Given the description of an element on the screen output the (x, y) to click on. 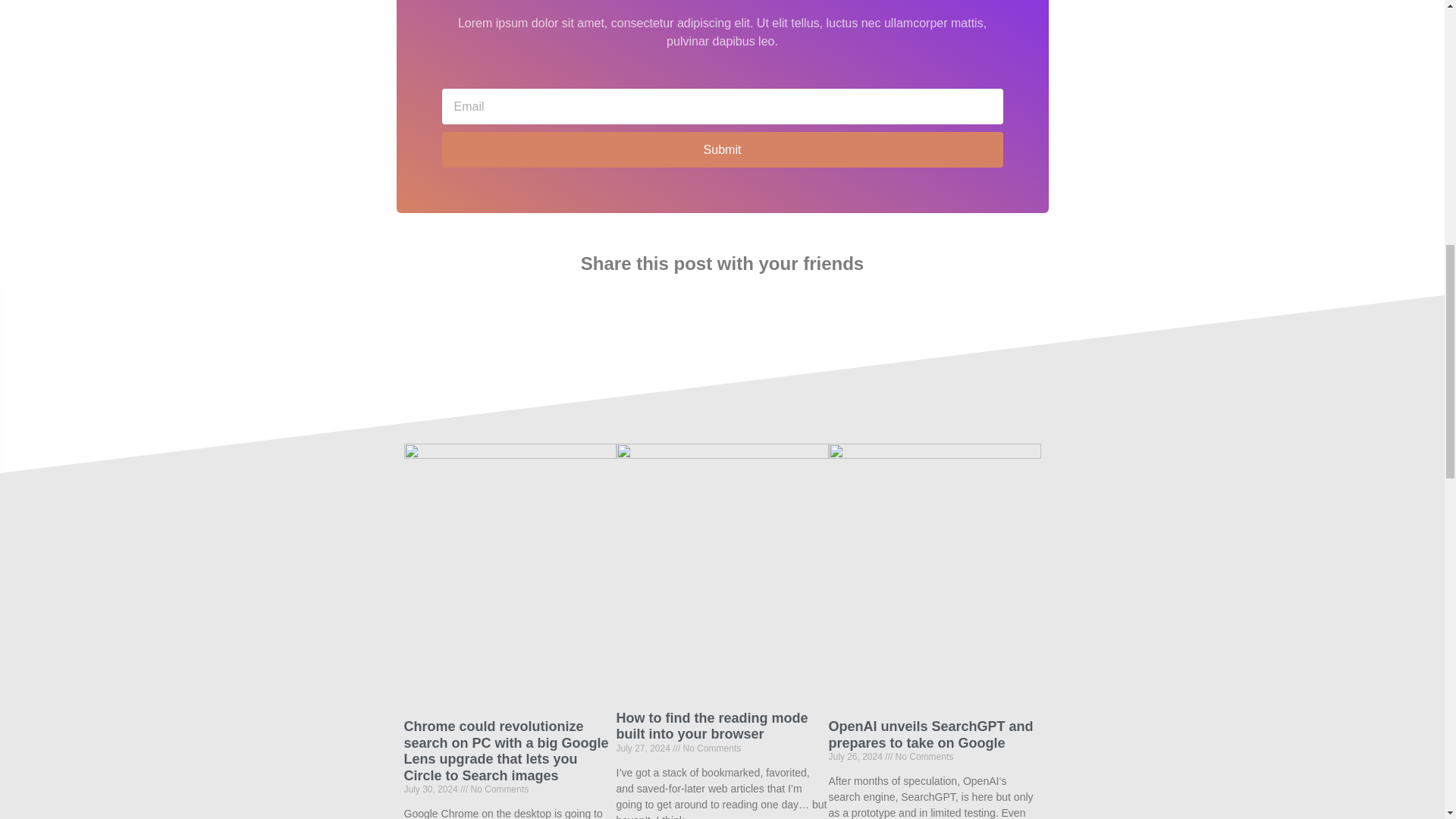
Submit (722, 149)
OpenAI unveils SearchGPT and prepares to take on Google (930, 735)
How to find the reading mode built into your browser (711, 726)
